Given the description of an element on the screen output the (x, y) to click on. 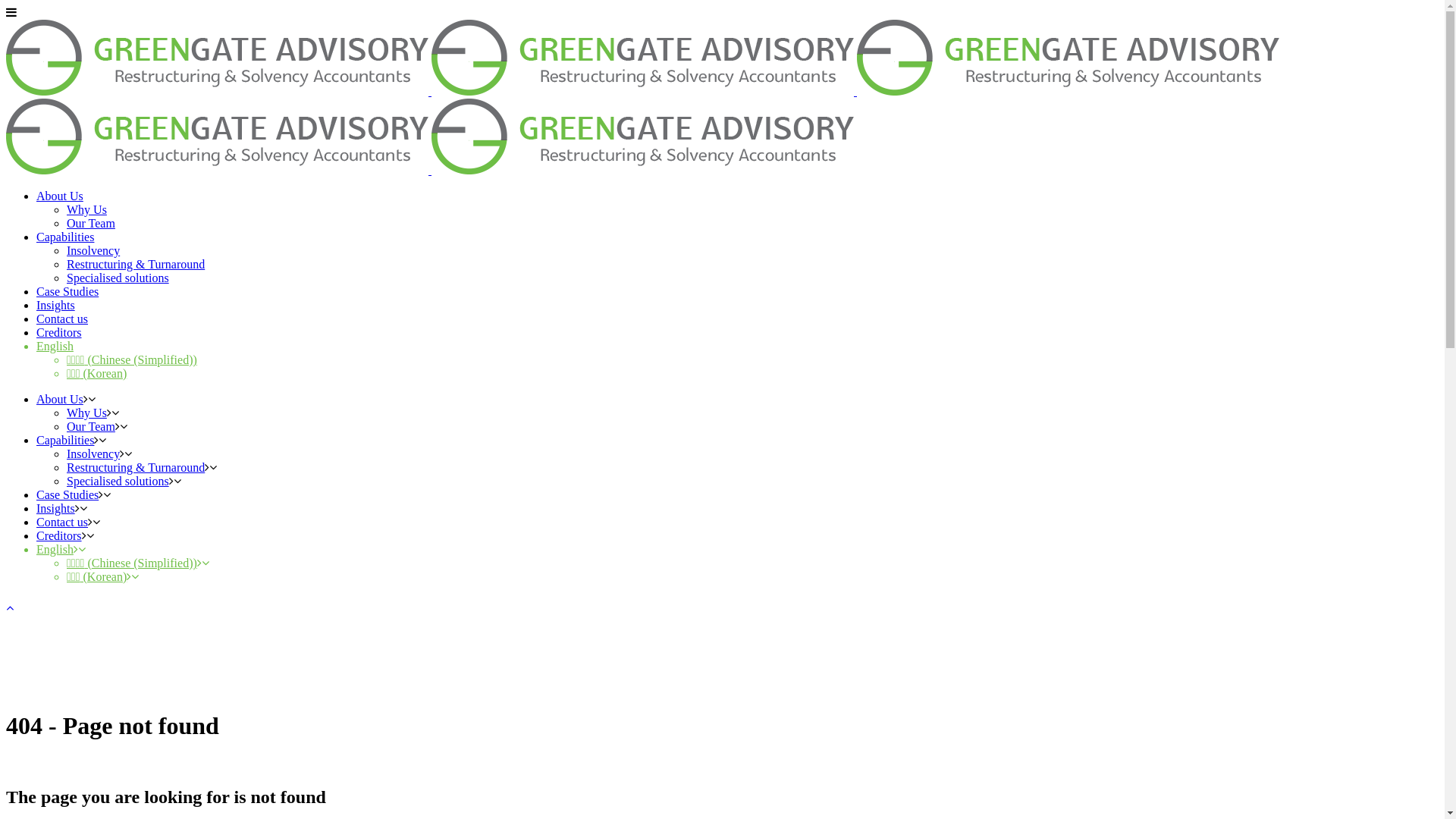
Why Us Element type: text (86, 209)
Our Team Element type: text (90, 426)
Capabilities Element type: text (65, 439)
Case Studies Element type: text (67, 494)
Contact us Element type: text (61, 521)
About Us Element type: text (59, 195)
Capabilities Element type: text (65, 236)
Insights Element type: text (55, 508)
Insights Element type: text (55, 304)
Insolvency Element type: text (92, 453)
Creditors Element type: text (58, 535)
English Element type: text (54, 345)
English Element type: text (54, 548)
Restructuring & Turnaround Element type: text (135, 263)
Case Studies Element type: text (67, 291)
Specialised solutions Element type: text (117, 480)
Insolvency Element type: text (92, 250)
Contact us Element type: text (61, 318)
Restructuring & Turnaround Element type: text (135, 467)
Why Us Element type: text (86, 412)
Our Team Element type: text (90, 222)
Specialised solutions Element type: text (117, 277)
Creditors Element type: text (58, 332)
About Us Element type: text (59, 398)
